Given the description of an element on the screen output the (x, y) to click on. 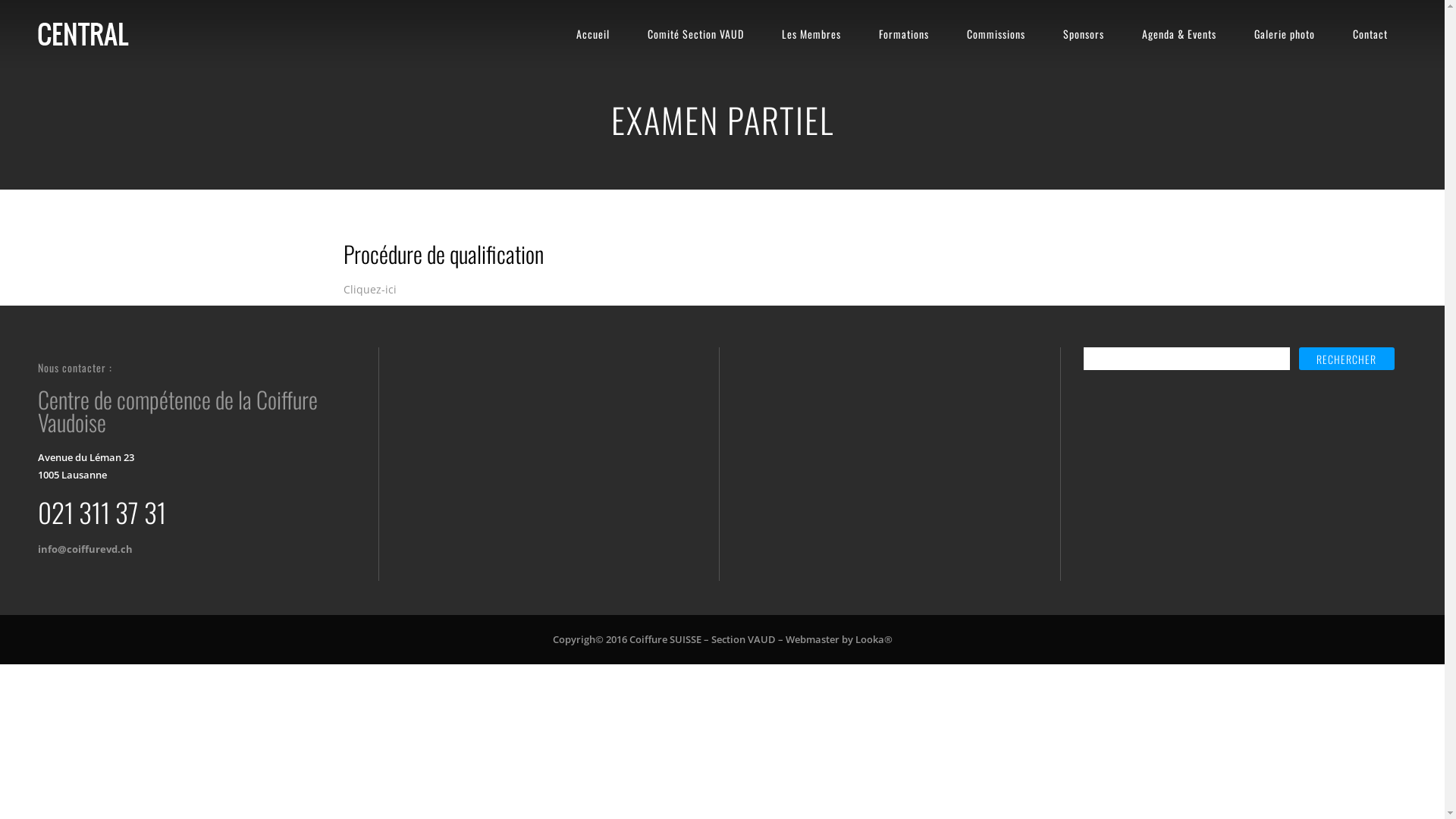
Formations Element type: text (903, 34)
Sponsors Element type: text (1083, 34)
Les Membres Element type: text (810, 34)
Rechercher Element type: text (1346, 358)
Commissions Element type: text (995, 34)
Agenda & Events Element type: text (1179, 34)
info@coiffurevd.ch Element type: text (84, 548)
Galerie photo Element type: text (1284, 34)
Cliquez-ici Element type: text (368, 289)
Accueil Element type: text (592, 34)
Contact Element type: text (1369, 34)
